Given the description of an element on the screen output the (x, y) to click on. 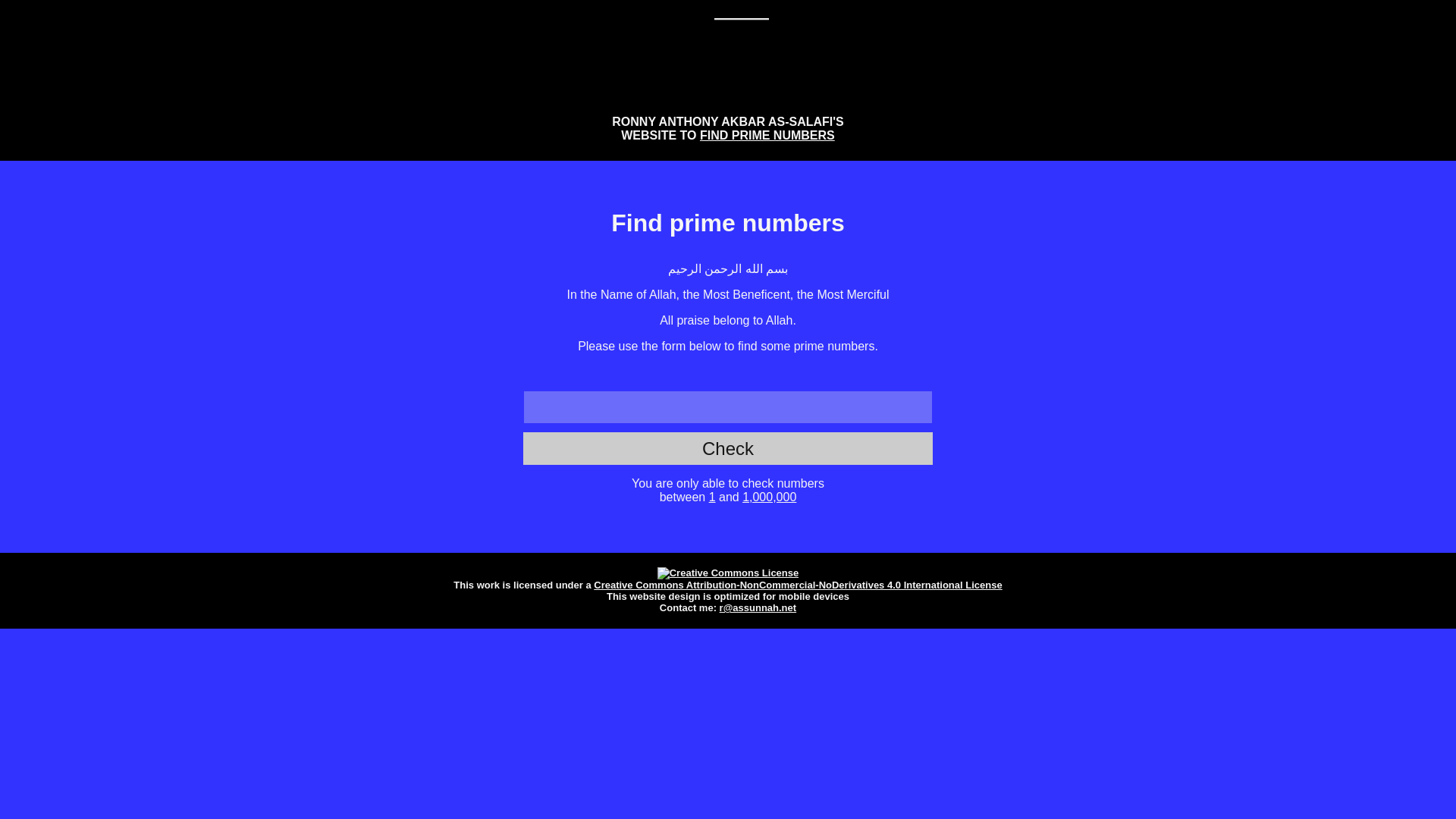
FIND PRIME NUMBERS (767, 134)
1,000,000 (769, 496)
Check (727, 448)
